Given the description of an element on the screen output the (x, y) to click on. 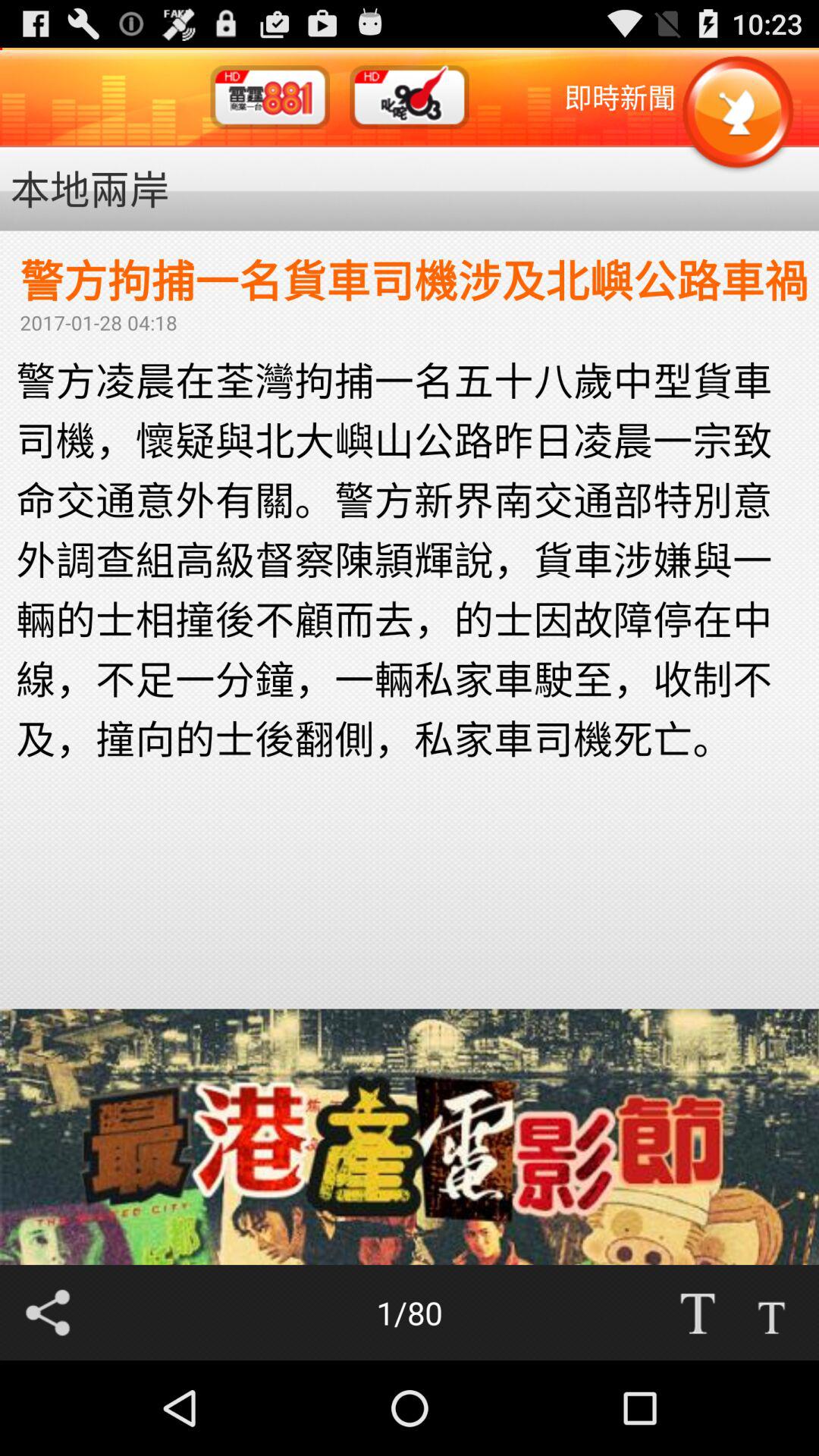
toggle text case (697, 1312)
